Given the description of an element on the screen output the (x, y) to click on. 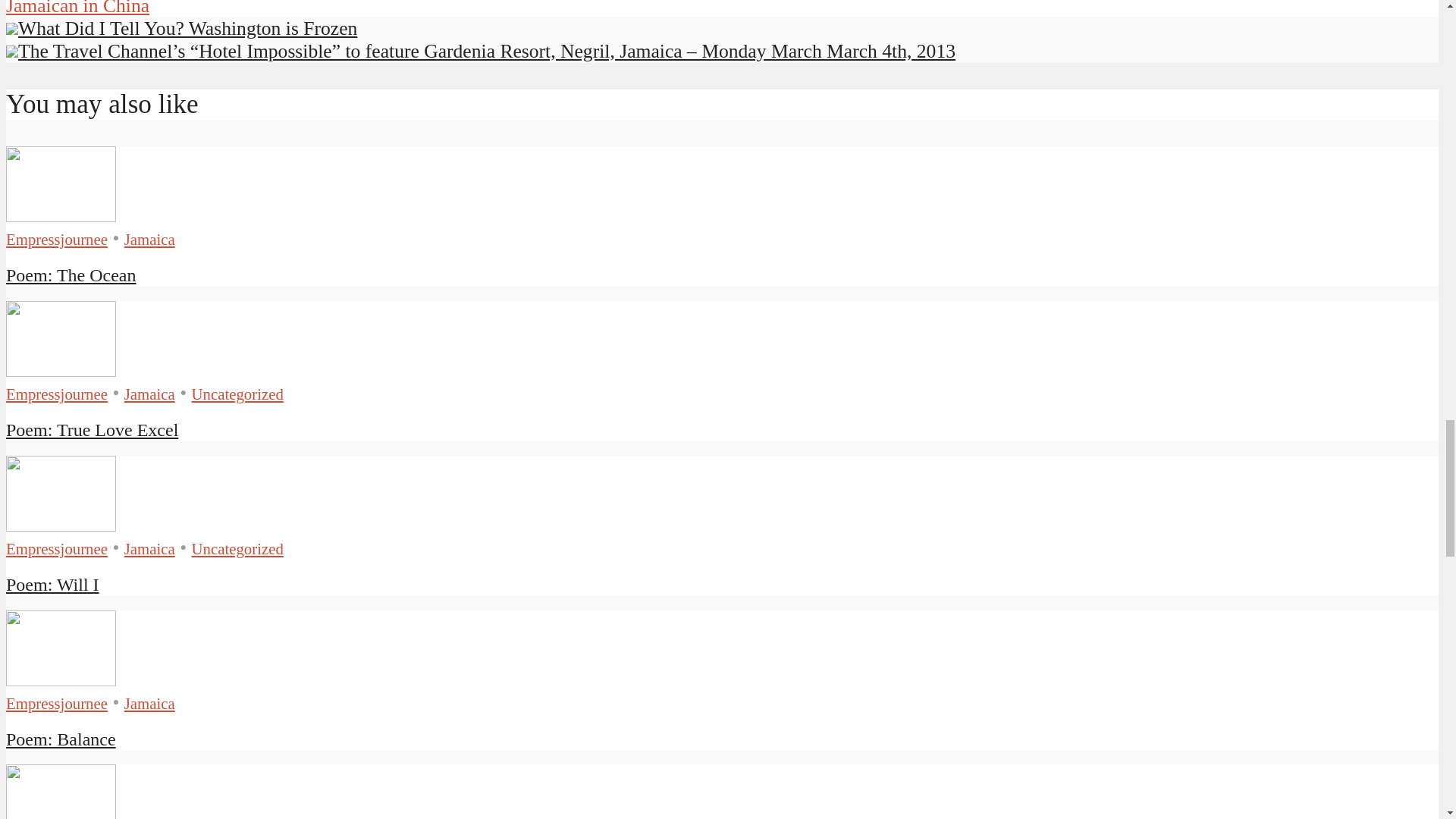
Poem: Balance (60, 680)
Poem: The Ocean (70, 275)
Empressjournee (56, 239)
Jamaica (148, 393)
Uncategorized (237, 393)
Uncategorized (237, 548)
What Did I Tell You? Washington is Frozen (180, 28)
Jamaican in China (77, 8)
Empressjournee (56, 548)
Poem: The Ocean (60, 215)
Poem: True Love Excel (91, 429)
Poem: The Ocean (70, 275)
Jamaica (148, 239)
Poem: Balance (60, 739)
Poem: True Love Excel (60, 370)
